Given the description of an element on the screen output the (x, y) to click on. 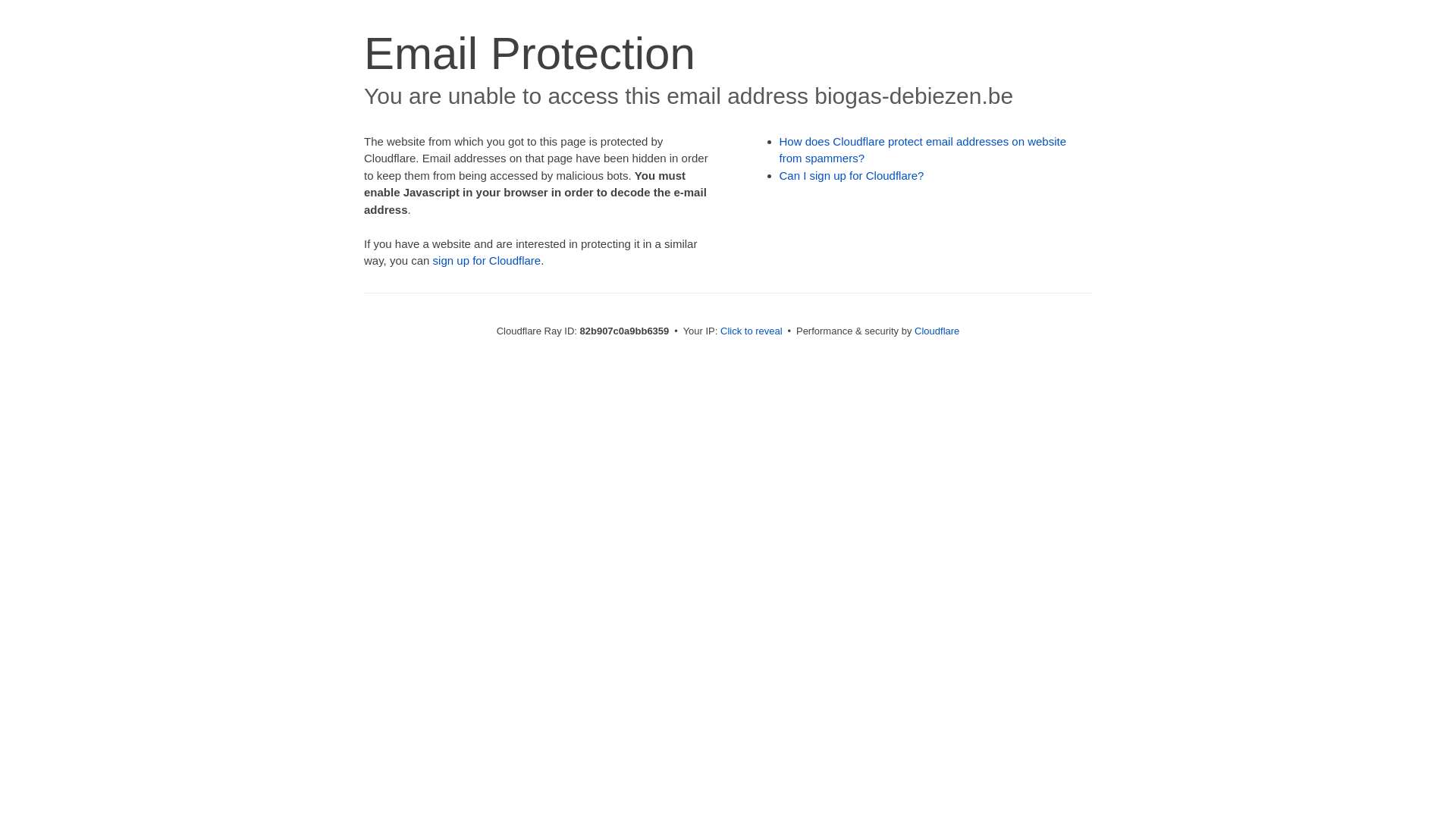
Click to reveal Element type: text (751, 330)
Cloudflare Element type: text (936, 330)
Can I sign up for Cloudflare? Element type: text (851, 175)
sign up for Cloudflare Element type: text (487, 260)
